Given the description of an element on the screen output the (x, y) to click on. 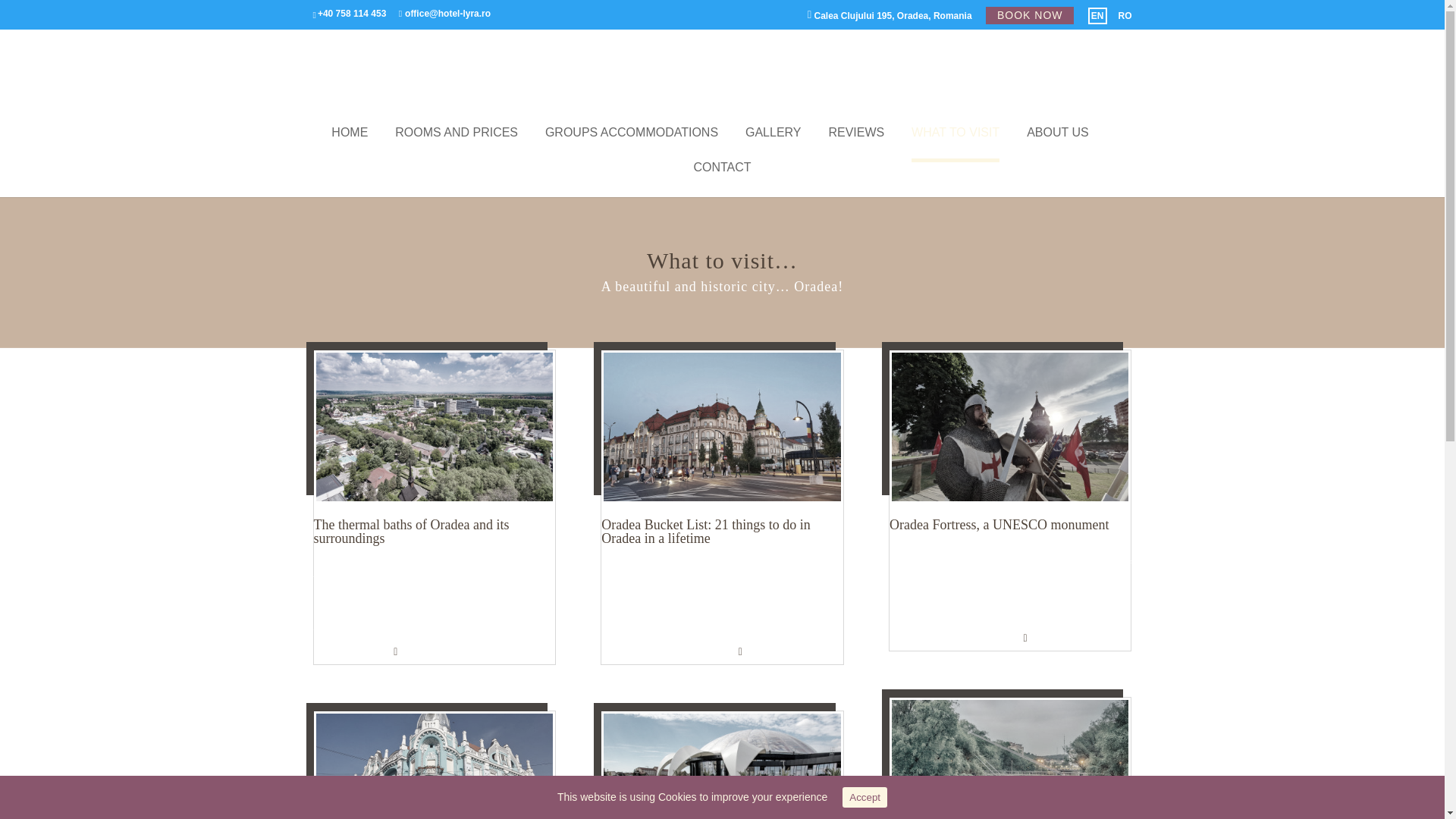
REVIEWS (855, 144)
Oradea Bucket List: 21 things to do in Oradea in a lifetime (705, 531)
BOOK NOW (1029, 15)
WHAT TO VISIT (954, 144)
GROUPS ACCOMMODATIONS (630, 144)
CONTACT (722, 179)
ROOMS AND PRICES (456, 144)
HOME (349, 144)
Calea Clujului 195, Oradea, Romania (890, 19)
GALLERY (773, 144)
